Given the description of an element on the screen output the (x, y) to click on. 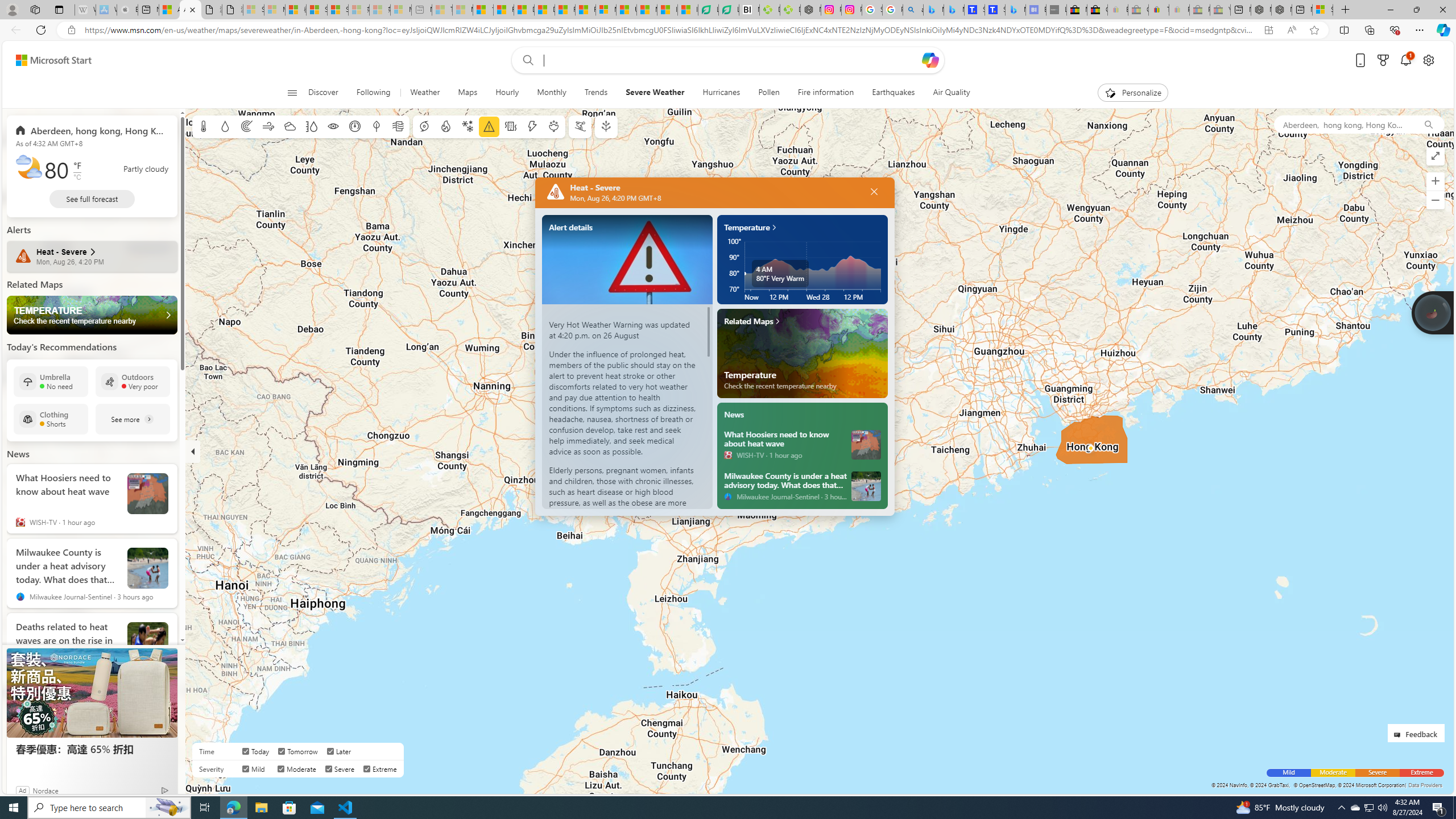
Deaths related to heat waves are on the rise in U.S. (148, 642)
Outdoors Very poor (133, 381)
Hide (192, 450)
Microsoft Services Agreement - Sleeping (274, 9)
Enter your search term (730, 59)
Hurricane (423, 126)
Sea level pressure (355, 126)
Trends (596, 92)
Weather (424, 92)
Fire information (825, 92)
Earthquake (510, 126)
Lightning (532, 126)
